Given the description of an element on the screen output the (x, y) to click on. 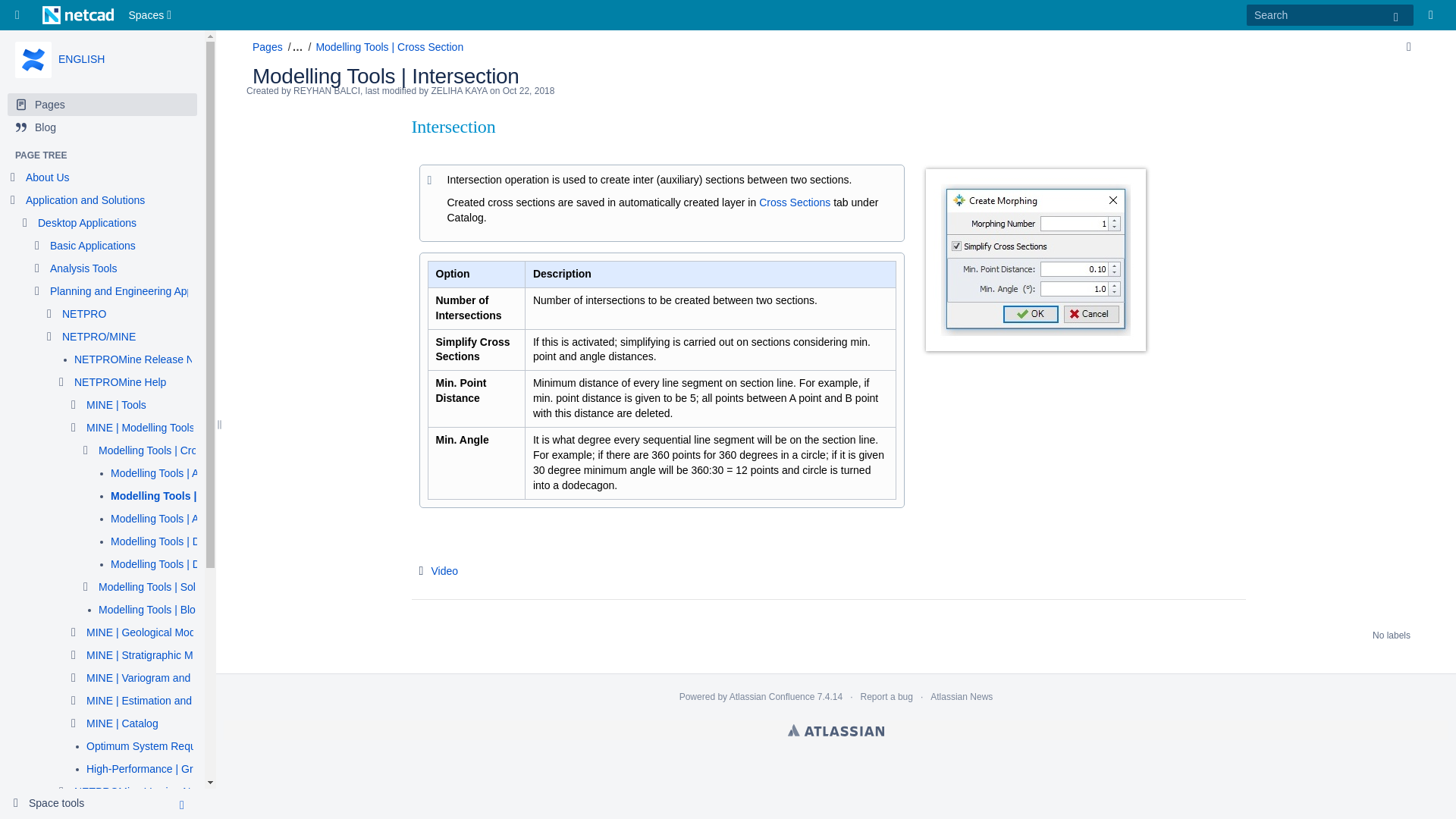
Planning and Engineering Applications (140, 291)
Application and Solutions (85, 200)
Basic Applications (92, 246)
Desktop Applications (86, 223)
Pages (101, 104)
Spaces (151, 15)
NETPROMine Release Notes (144, 359)
Blog (101, 127)
Linked Applications (20, 15)
ENGLISH (81, 59)
